Given the description of an element on the screen output the (x, y) to click on. 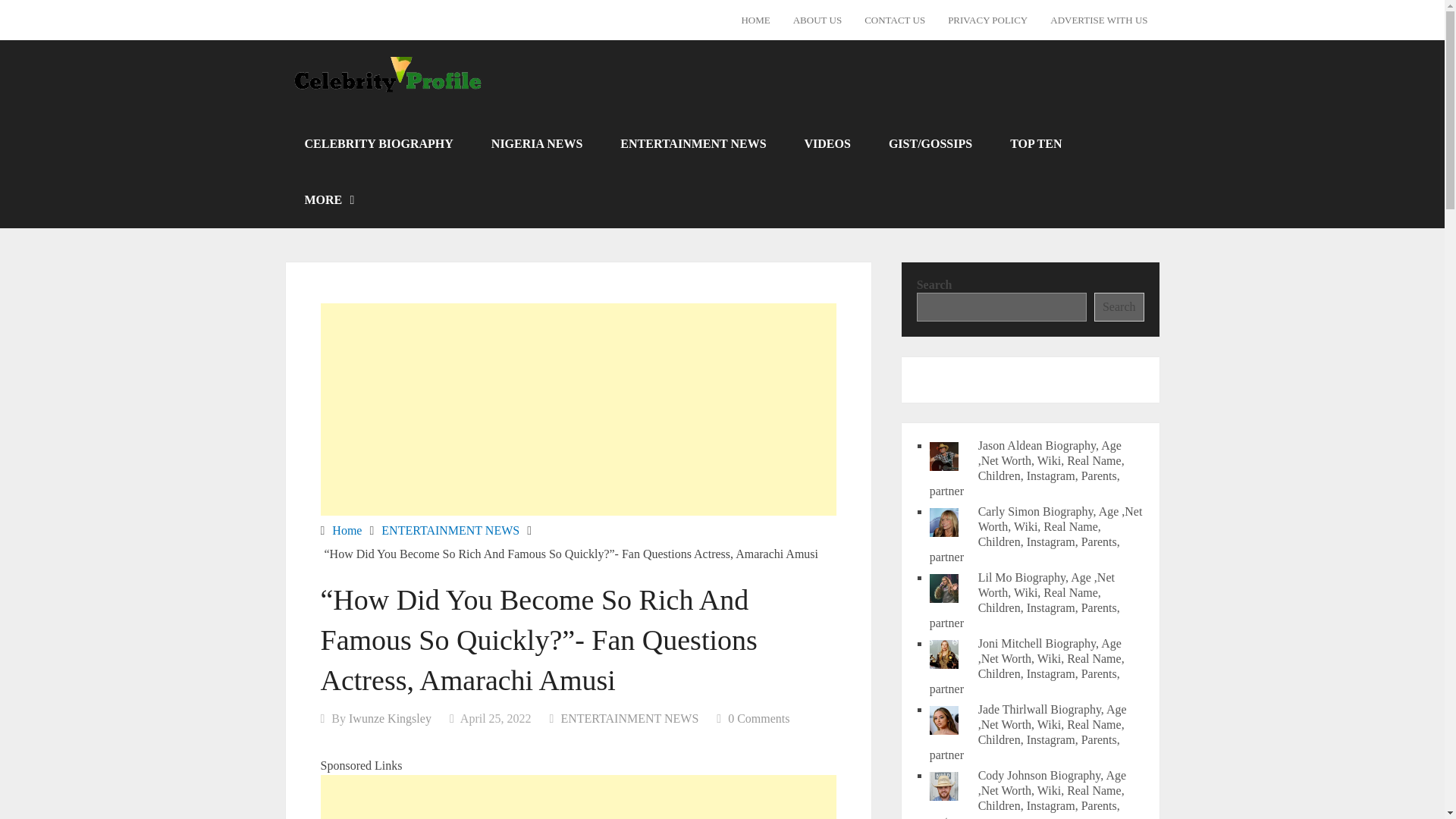
CONTACT US (894, 20)
Advertisement (577, 409)
ENTERTAINMENT NEWS (629, 717)
ENTERTAINMENT NEWS (450, 529)
Iwunze Kingsley (389, 717)
VIDEOS (827, 143)
TOP TEN (1035, 143)
Search (1119, 306)
NIGERIA NEWS (536, 143)
